Given the description of an element on the screen output the (x, y) to click on. 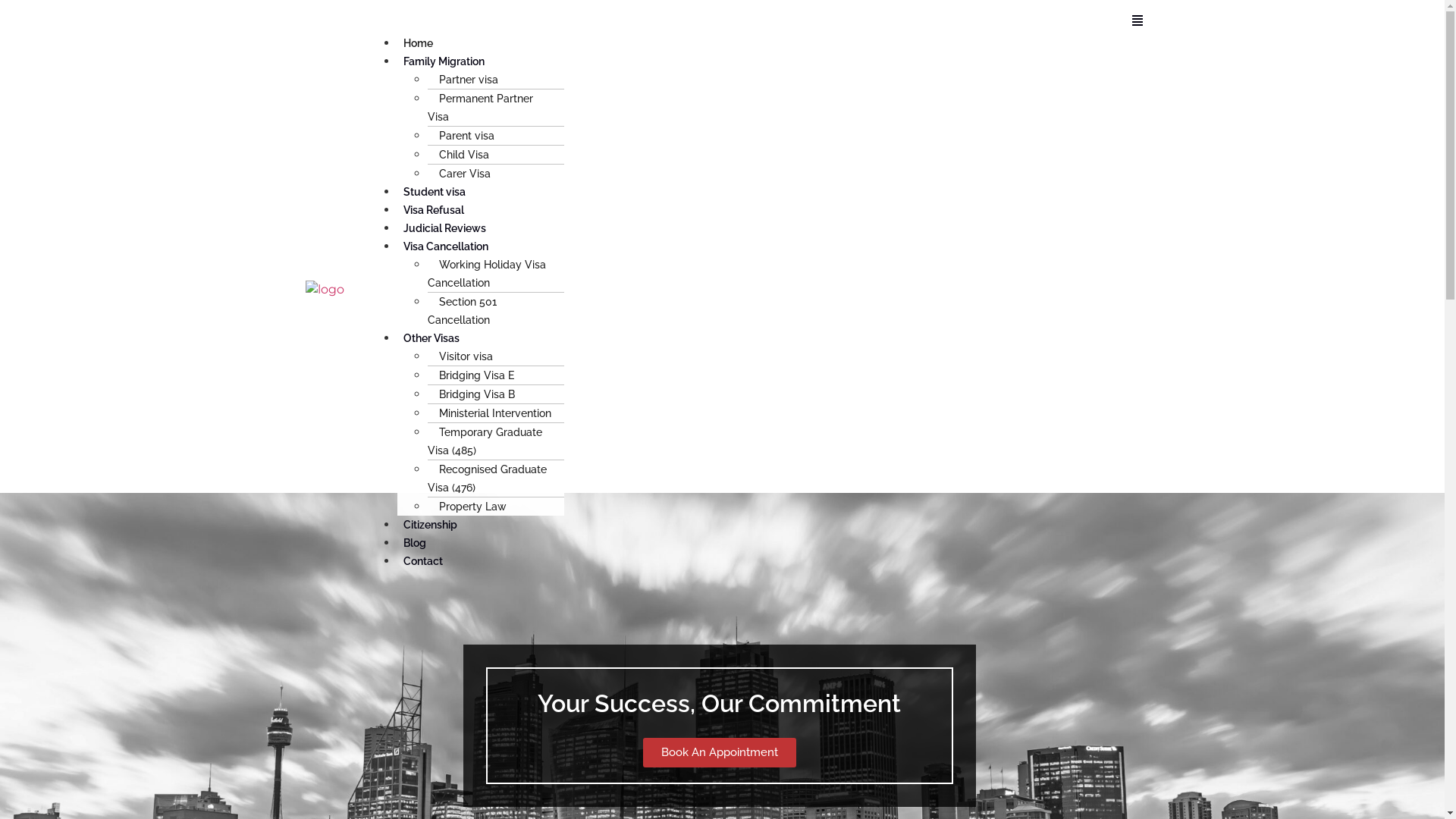
Visitor visa Element type: text (465, 355)
Working Holiday Visa Cancellation Element type: text (486, 273)
Child Visa Element type: text (463, 154)
Home Element type: text (418, 42)
Blog Element type: text (414, 542)
Parent visa Element type: text (466, 135)
Ministerial Intervention Element type: text (494, 412)
Bridging Visa E Element type: text (476, 374)
Partner visa Element type: text (468, 79)
Family Migration Element type: text (443, 60)
Judicial Reviews Element type: text (444, 227)
Temporary Graduate Visa (485) Element type: text (484, 440)
Student visa Element type: text (434, 191)
Visa Cancellation Element type: text (445, 246)
Book An Appointment Element type: text (719, 752)
Carer Visa Element type: text (464, 173)
Recognised Graduate Visa (476) Element type: text (486, 478)
Citizenship Element type: text (430, 524)
Bridging Visa B Element type: text (476, 393)
Section 501 Cancellation Element type: text (464, 310)
Contact Element type: text (422, 560)
Other Visas Element type: text (431, 337)
Visa Refusal Element type: text (433, 209)
Property Law Element type: text (472, 506)
logo Element type: hover (324, 289)
Permanent Partner Visa Element type: text (480, 107)
